Given the description of an element on the screen output the (x, y) to click on. 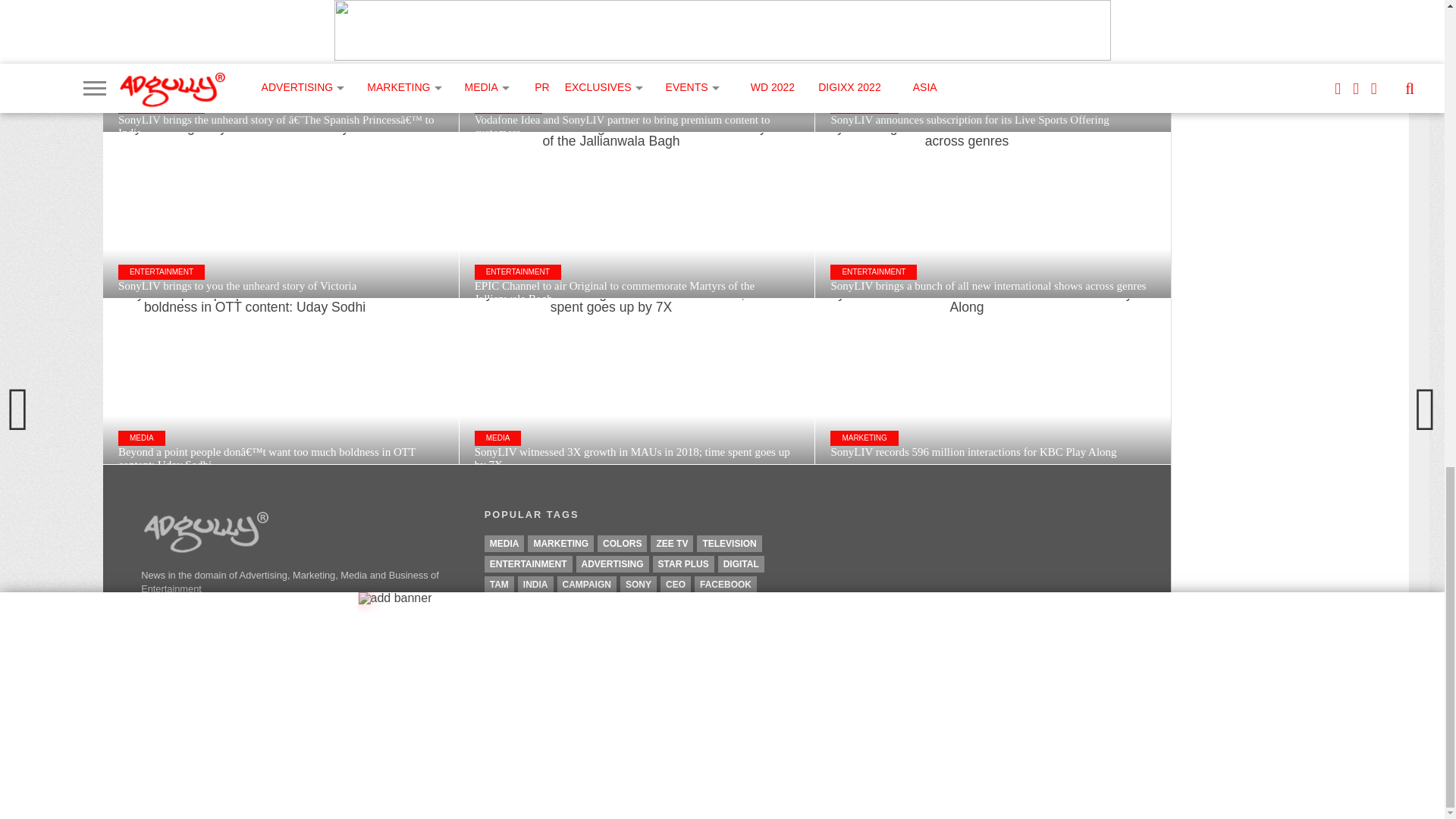
Television (729, 543)
Star Plus (683, 564)
Media (504, 543)
Marketing (560, 543)
Advertising (612, 564)
Entertainment (528, 564)
Colors (621, 543)
Zee TV (671, 543)
